Given the description of an element on the screen output the (x, y) to click on. 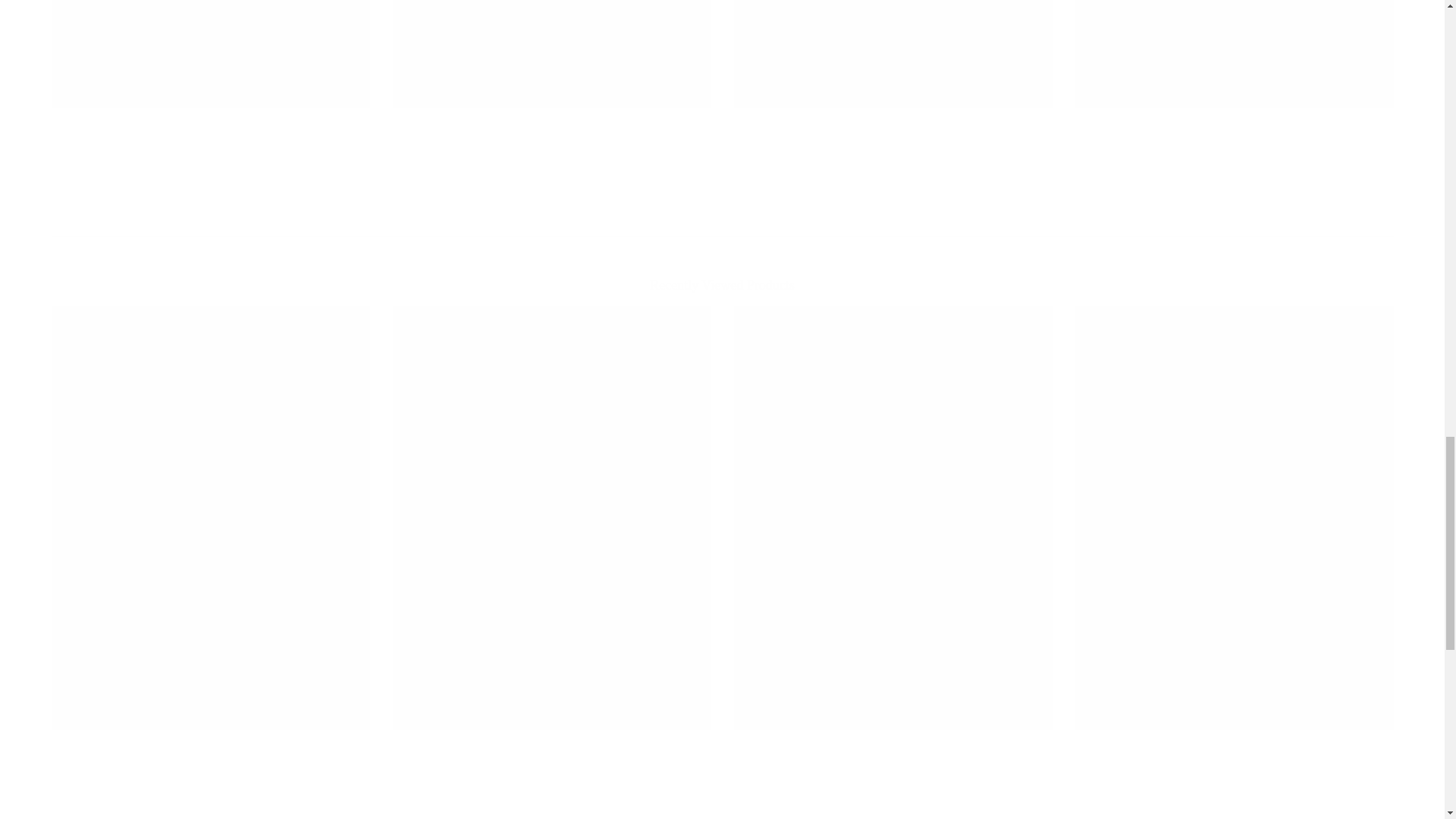
Recently Viewed Products (721, 284)
